Given the description of an element on the screen output the (x, y) to click on. 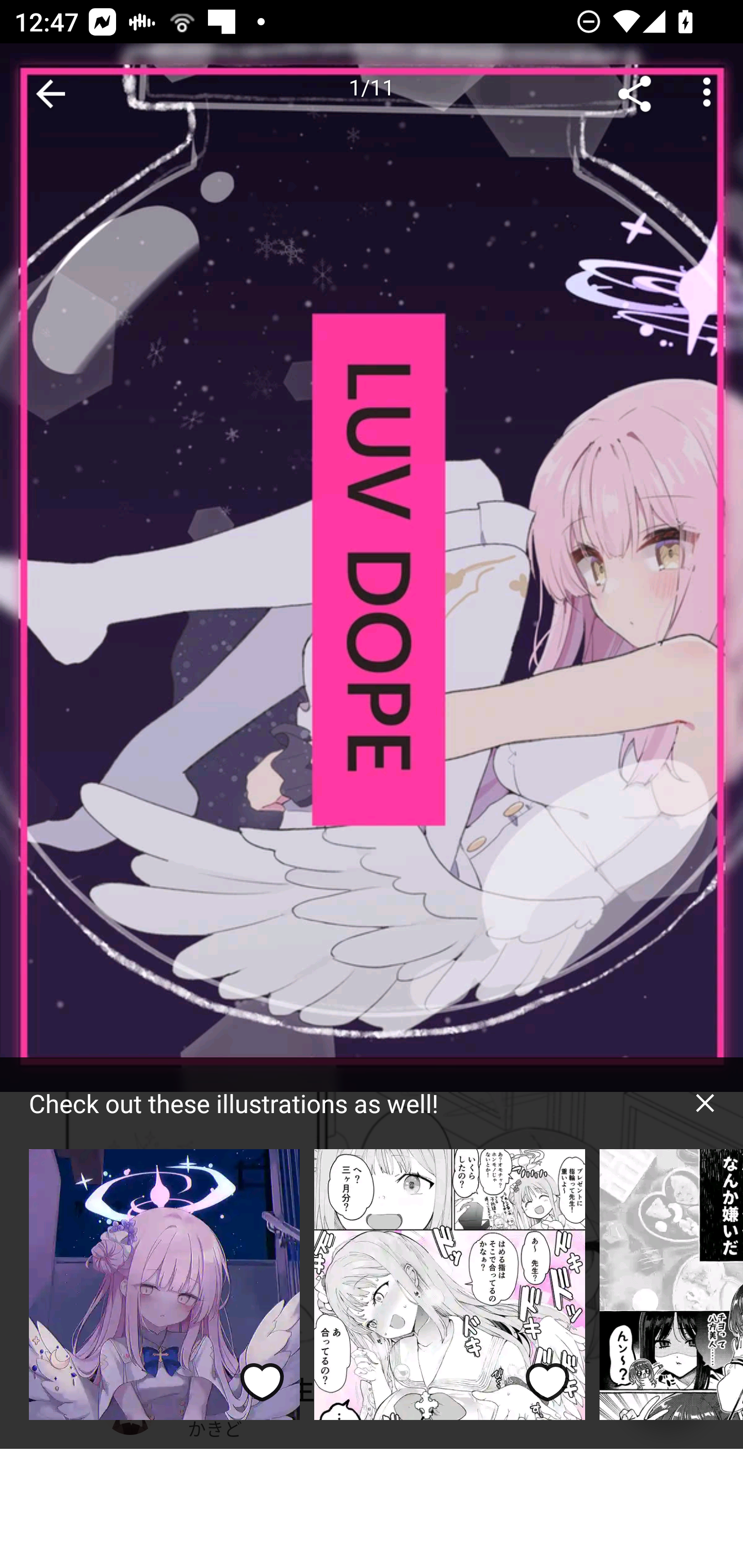
Share (634, 93)
More options (706, 93)
